Given the description of an element on the screen output the (x, y) to click on. 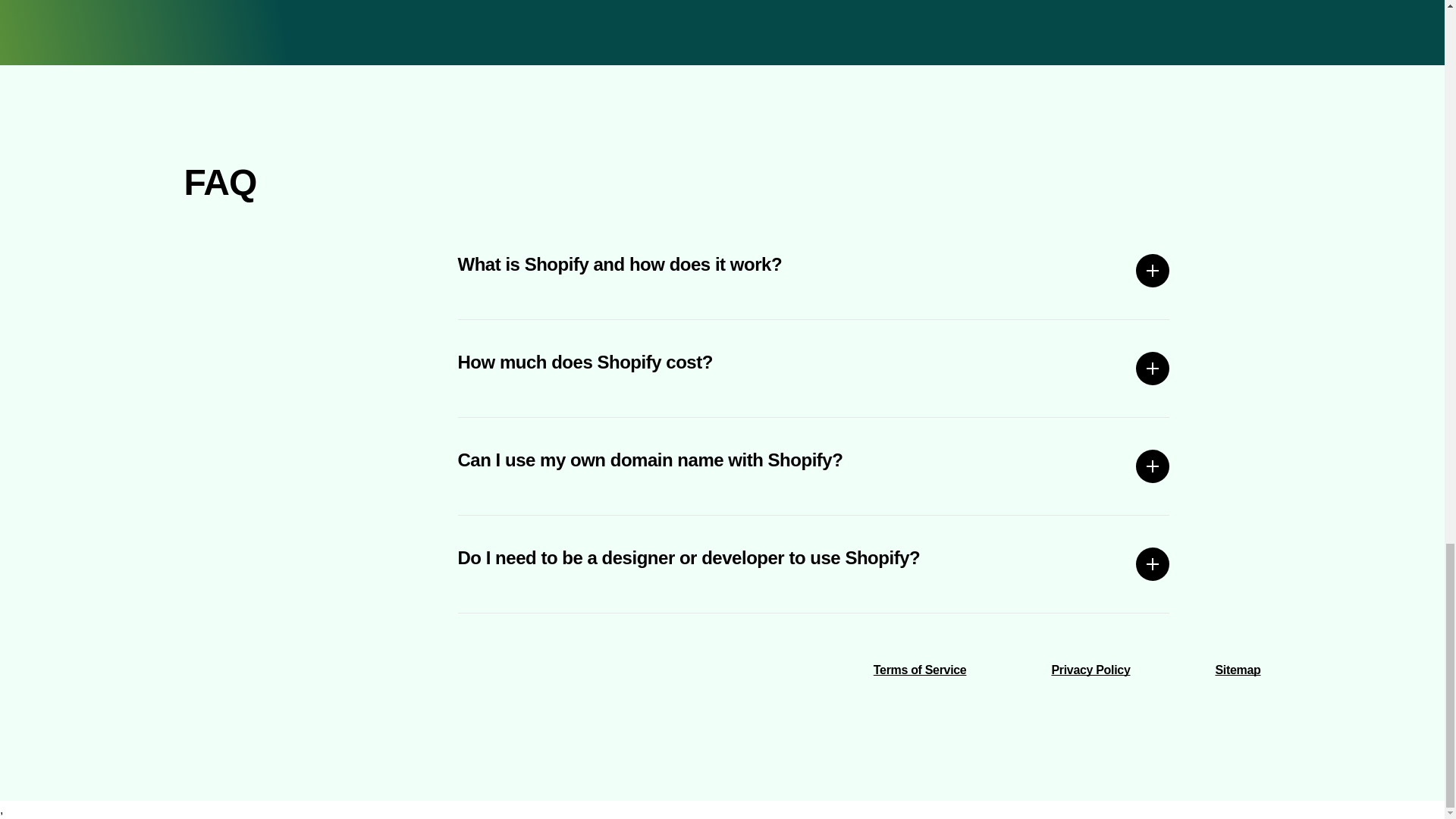
What is Shopify and how does it work? (814, 270)
Do I need to be a designer or developer to use Shopify? (814, 564)
Terms of Service (919, 669)
Can I use my own domain name with Shopify? (814, 465)
Privacy Policy (1090, 669)
How much does Shopify cost? (814, 368)
Sitemap (1237, 669)
